Given the description of an element on the screen output the (x, y) to click on. 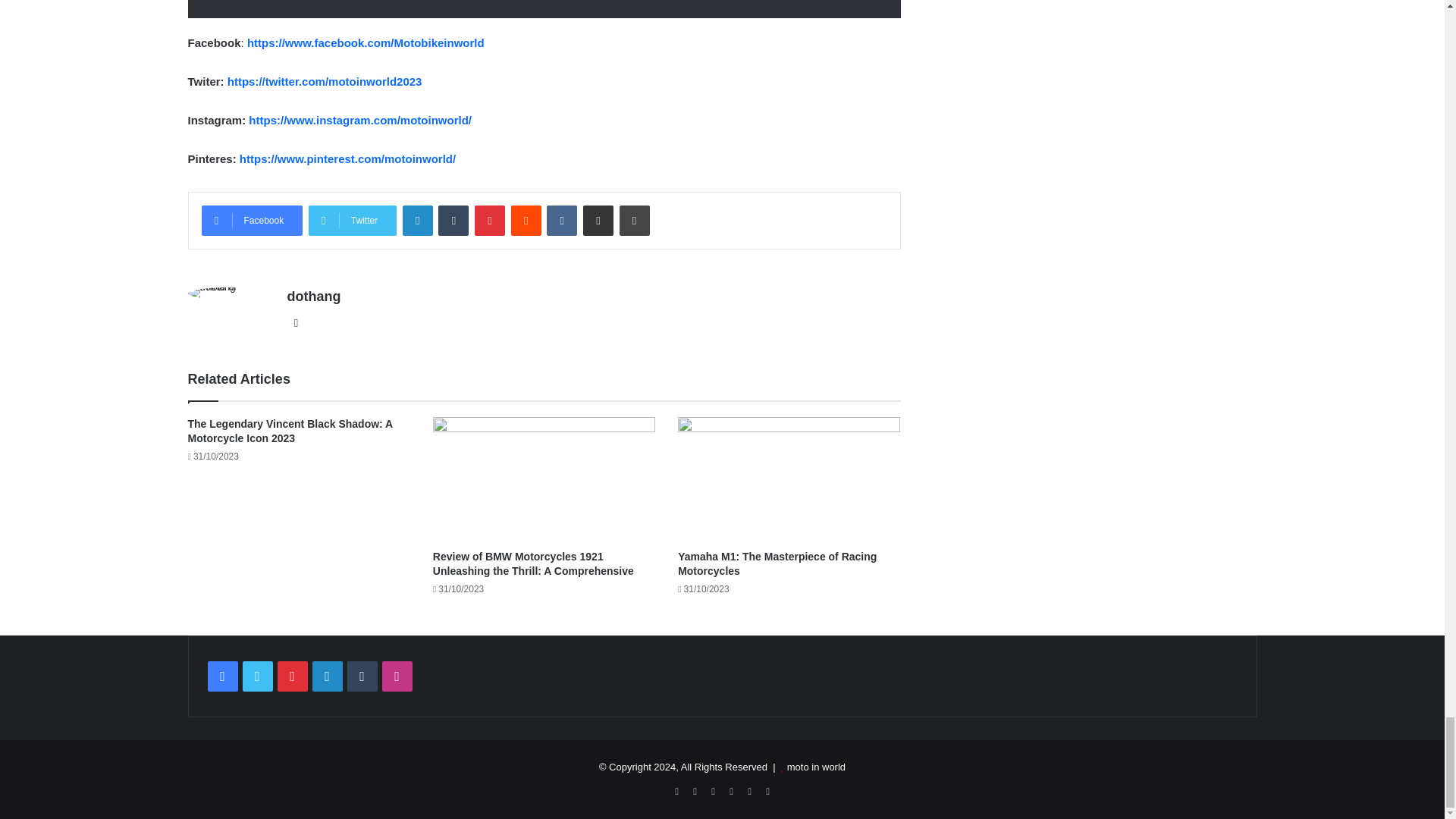
LinkedIn (417, 220)
Reddit (526, 220)
Facebook (252, 220)
Pinterest (489, 220)
Tumblr (453, 220)
Twitter (352, 220)
